Given the description of an element on the screen output the (x, y) to click on. 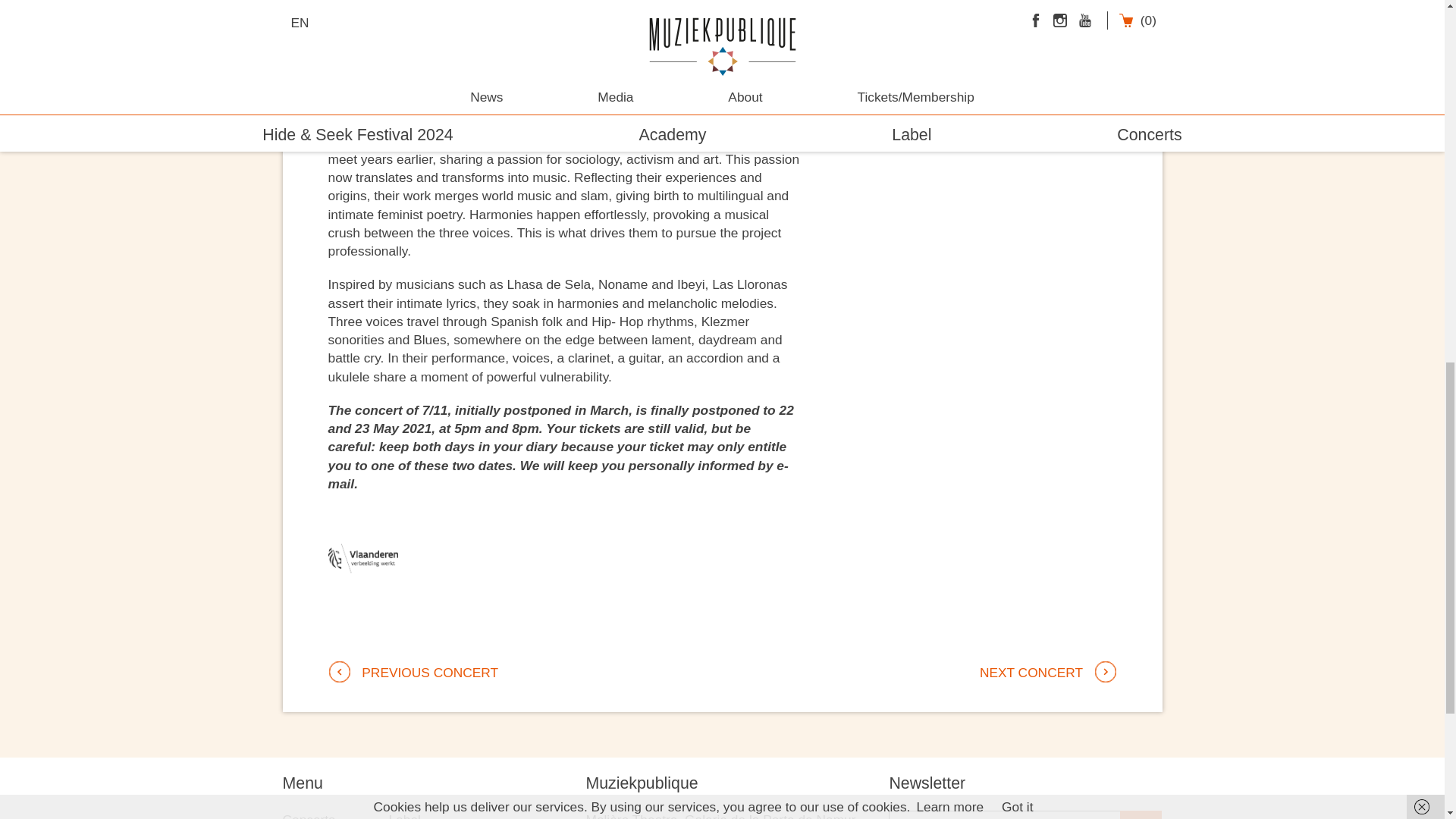
Ok (1140, 814)
